Given the description of an element on the screen output the (x, y) to click on. 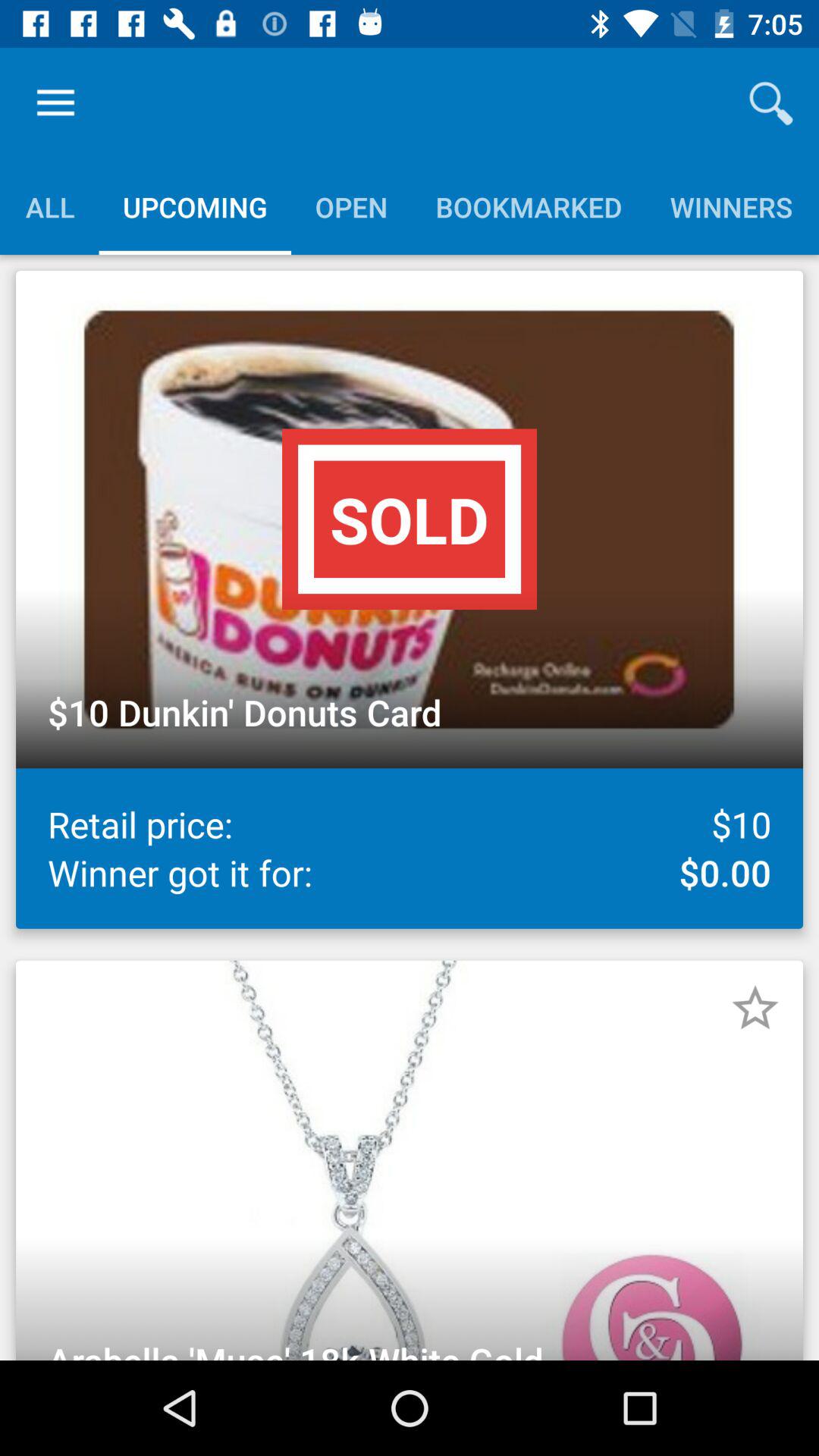
turn on the item below $0.00 item (755, 1008)
